Given the description of an element on the screen output the (x, y) to click on. 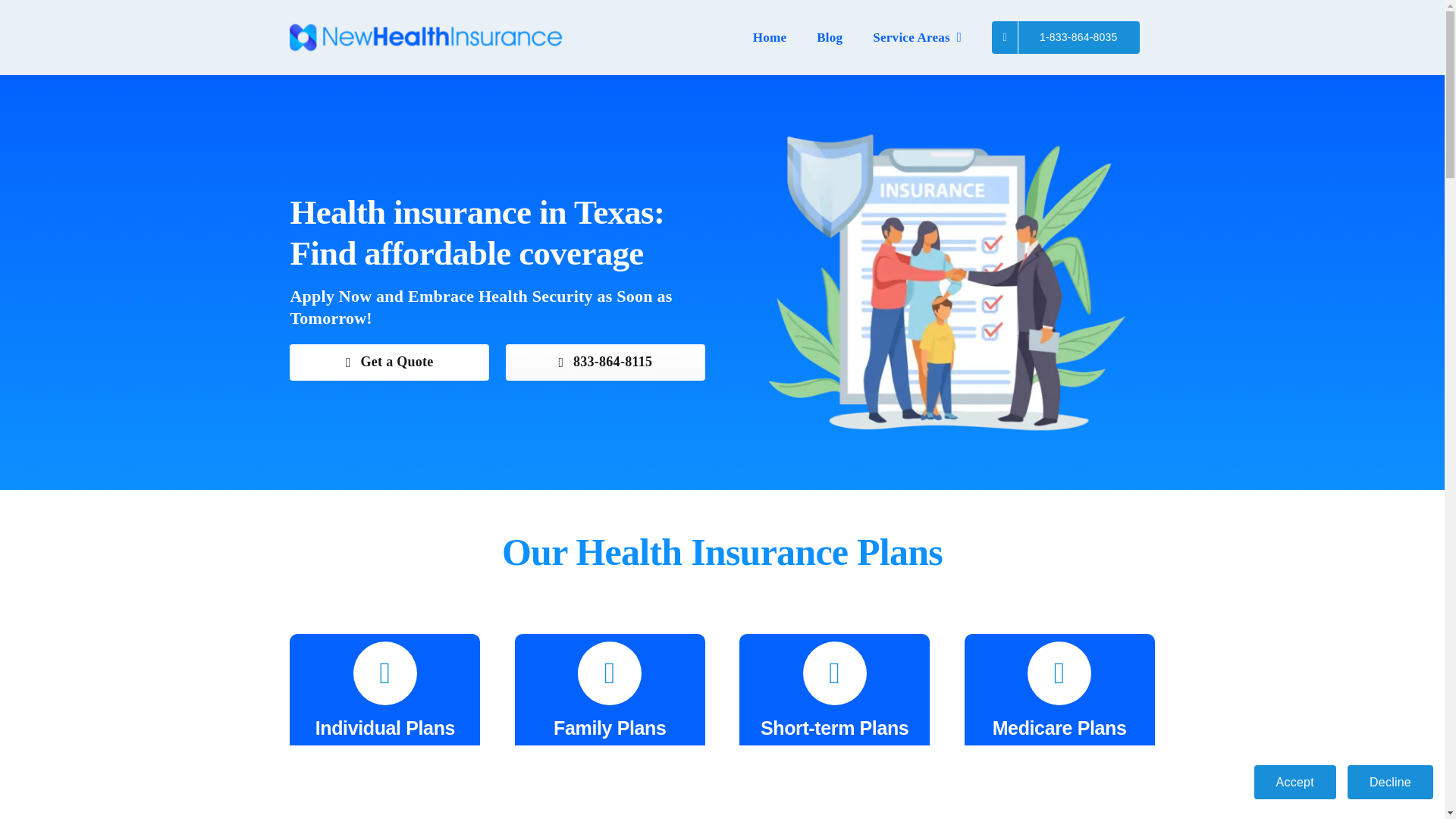
Blog (829, 37)
Home (770, 37)
Service Areas (916, 37)
